Given the description of an element on the screen output the (x, y) to click on. 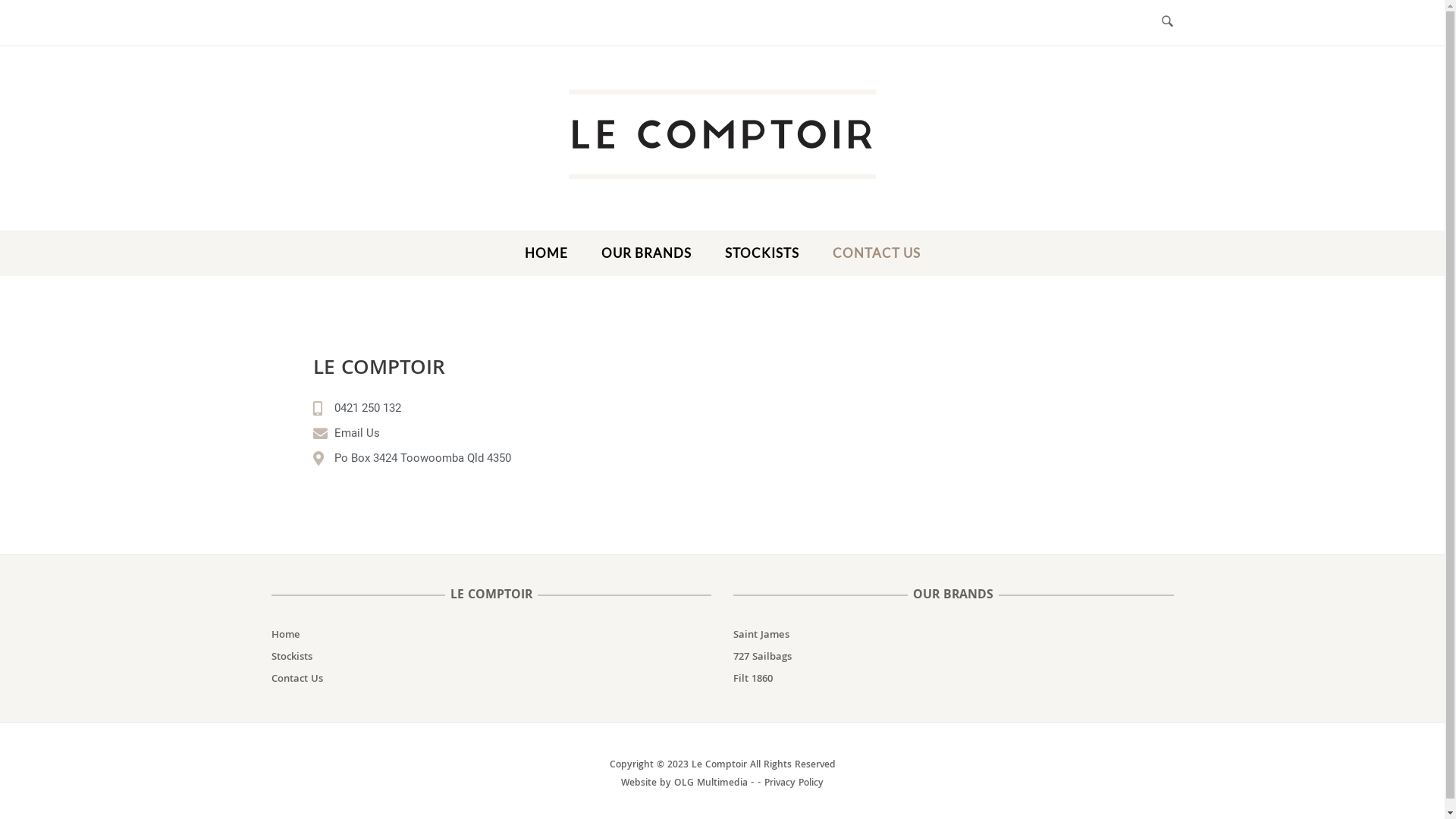
Website by OLG Multimedia Element type: text (728, 792)
CONTACT US Element type: text (875, 255)
727 Sailbags Element type: text (762, 657)
OUR BRANDS Element type: text (645, 255)
Saint James Element type: text (761, 635)
Email Us Element type: text (505, 432)
Stockists Element type: text (291, 657)
HOME Element type: text (545, 255)
STOCKISTS Element type: text (760, 255)
Filt 1860 Element type: text (752, 679)
Privacy Policy Element type: text (793, 783)
Contact Us Element type: text (297, 679)
Home Element type: text (285, 635)
